Given the description of an element on the screen output the (x, y) to click on. 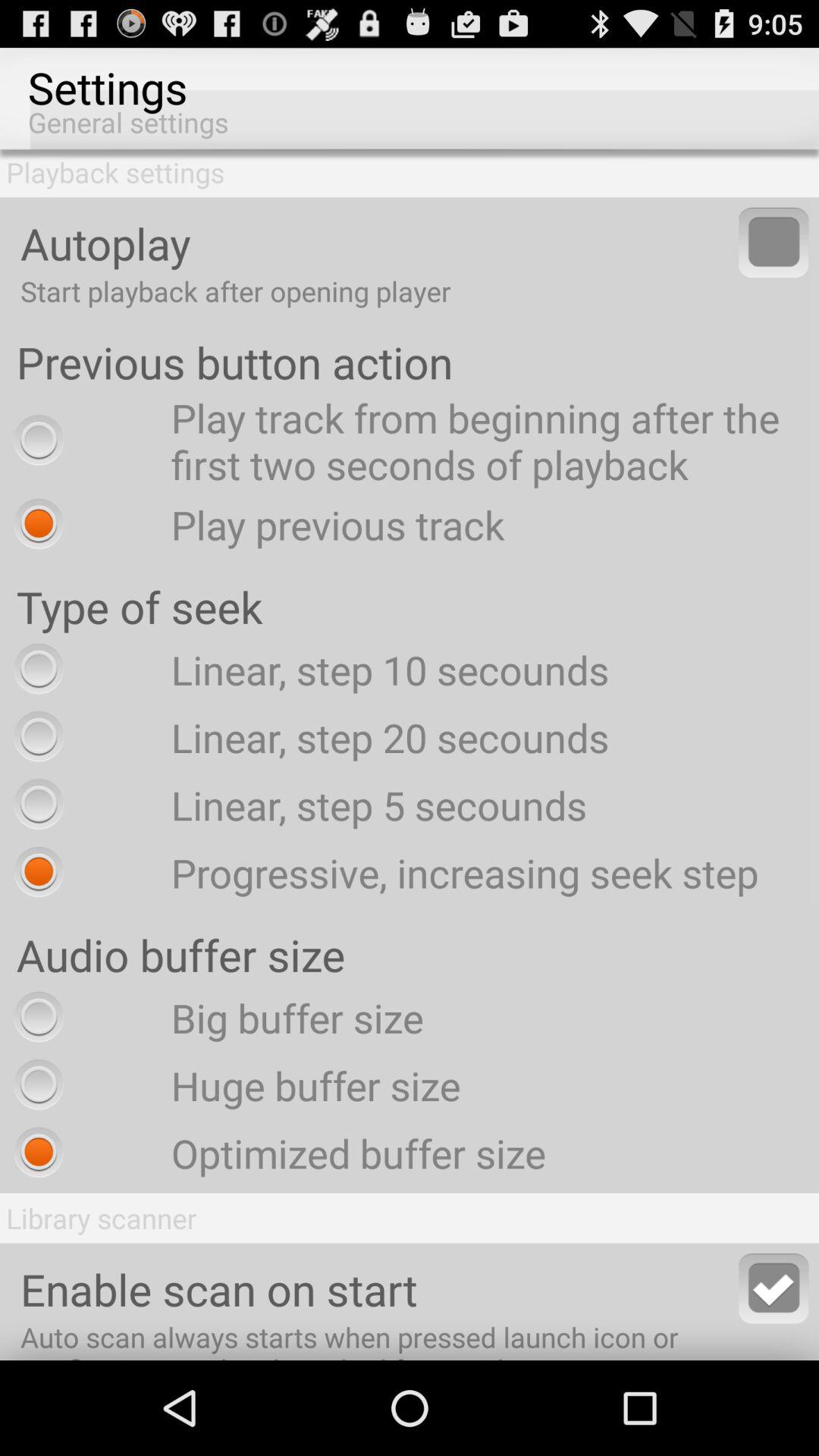
tap the item below linear step 5 radio button (382, 872)
